Given the description of an element on the screen output the (x, y) to click on. 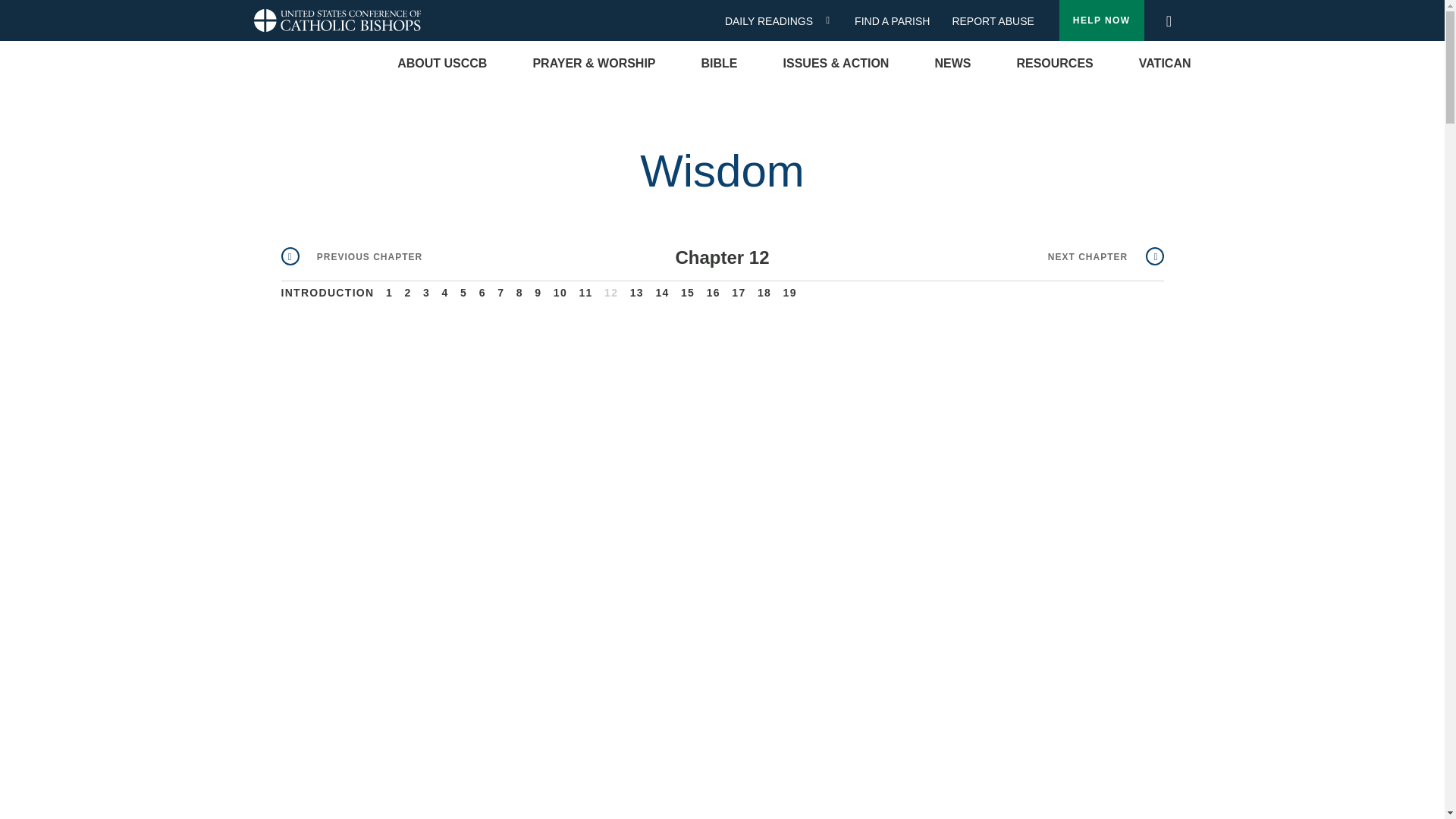
DAILY READINGS CALENDAR (832, 20)
Search (1168, 16)
HELP NOW (1101, 20)
Go to previous page (351, 256)
Go to next page (1105, 256)
DAILY READINGS (774, 20)
Link list for Vatican website (1165, 62)
FIND A PARISH (897, 20)
REPORT ABUSE (992, 20)
Go (1173, 21)
